Given the description of an element on the screen output the (x, y) to click on. 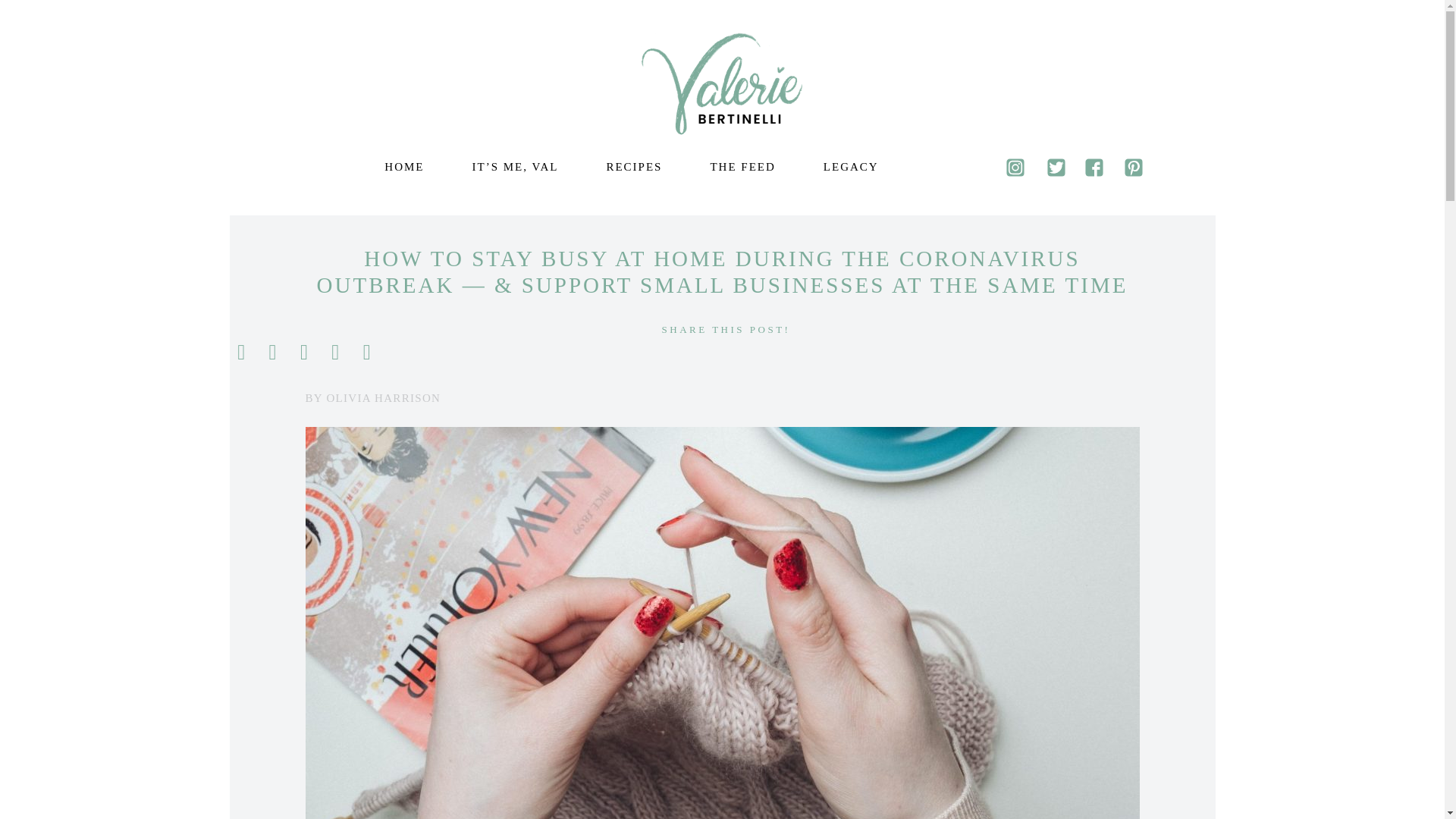
RECIPES (633, 166)
Facebook Icon (1093, 167)
LEGACY (850, 166)
THE FEED (741, 166)
Twitter Icon (1055, 167)
Pinterest Icon (1133, 167)
Insta Icon (1015, 167)
HOME (402, 166)
